Given the description of an element on the screen output the (x, y) to click on. 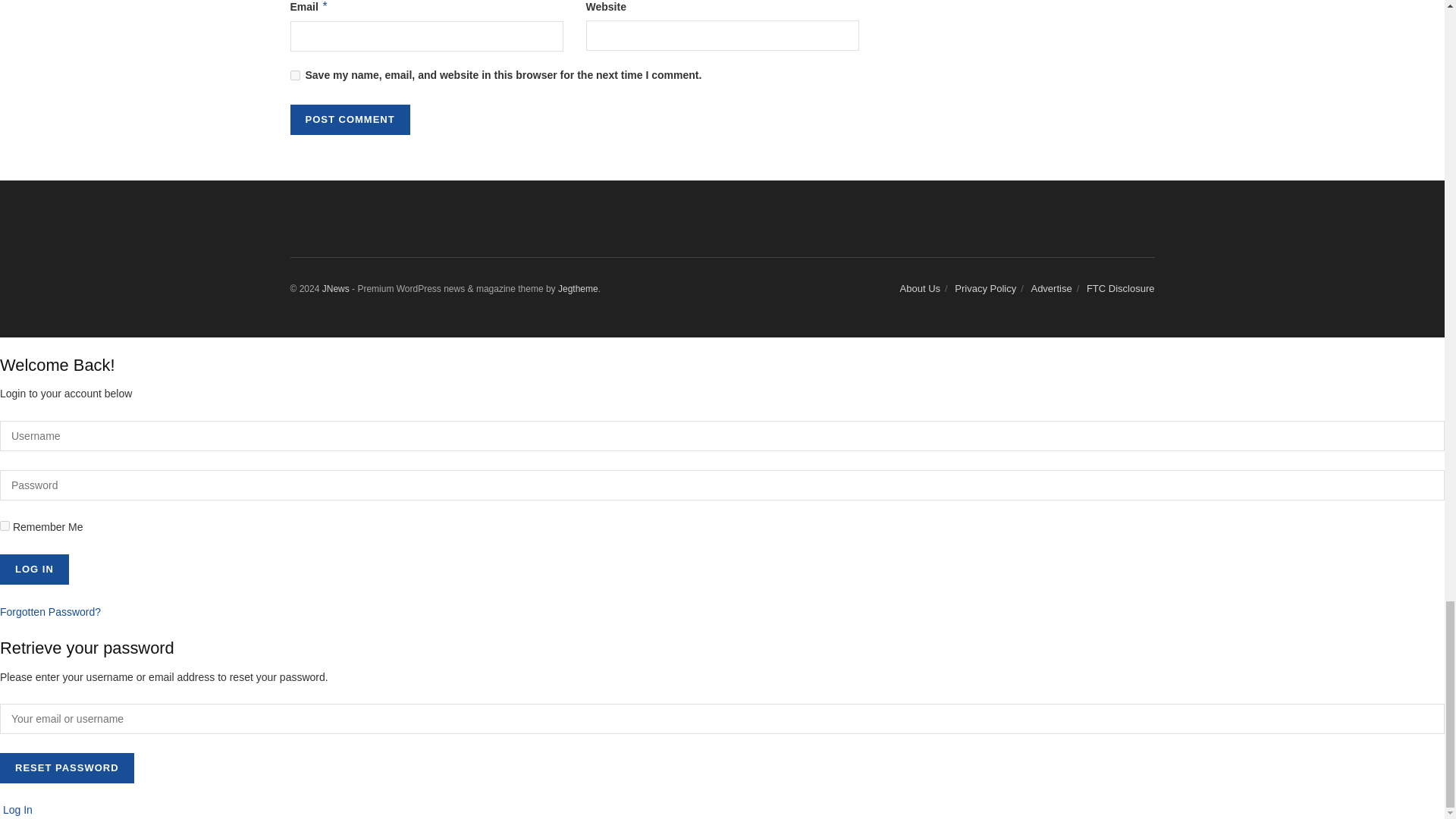
Post Comment (349, 119)
Jegtheme (577, 288)
yes (294, 75)
Log In (34, 569)
Reset Password (66, 767)
true (5, 525)
